Given the description of an element on the screen output the (x, y) to click on. 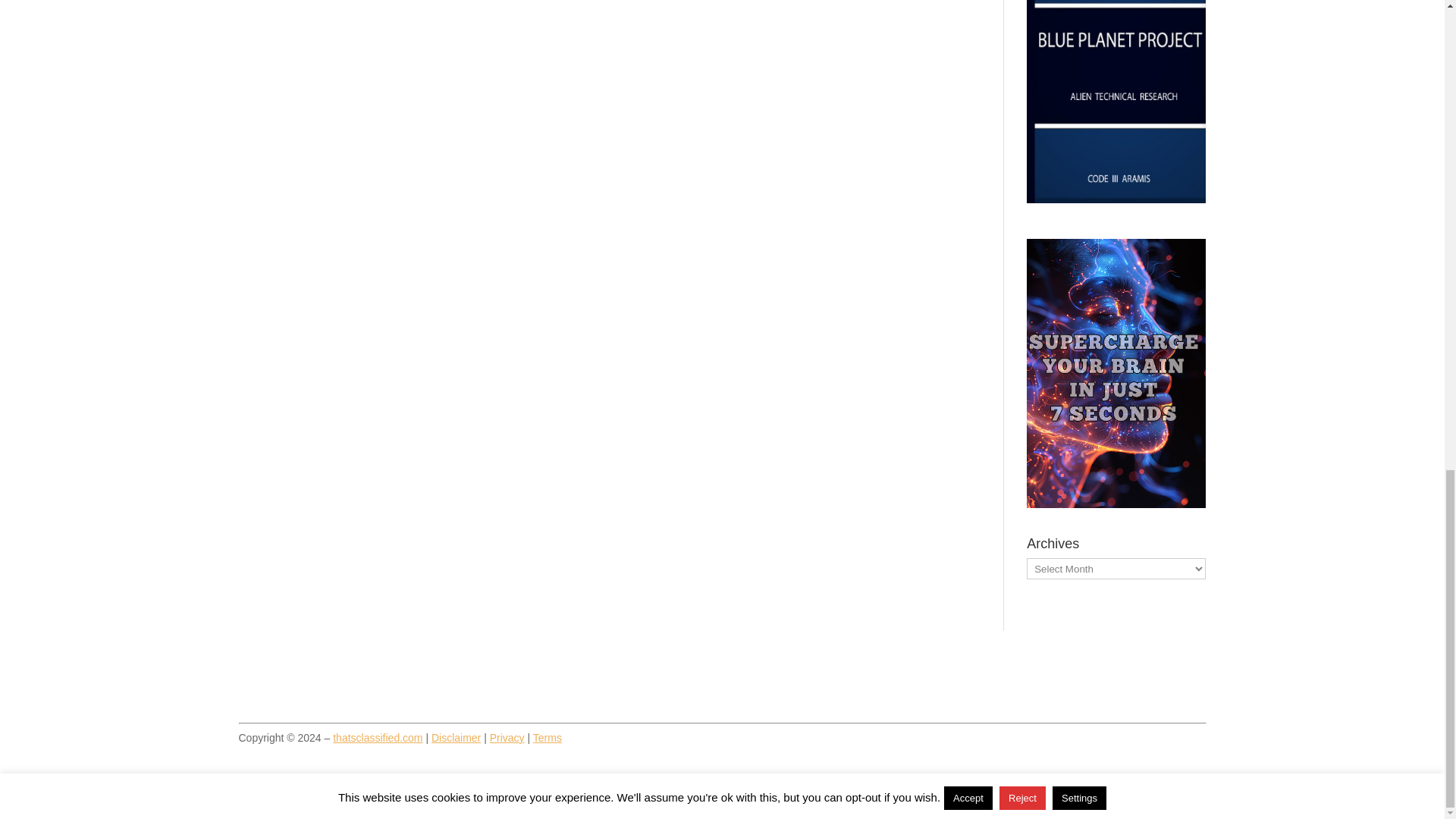
thatsclassified.com (377, 737)
Privacy (506, 737)
Terms (547, 737)
Disclaimer (455, 737)
